Given the description of an element on the screen output the (x, y) to click on. 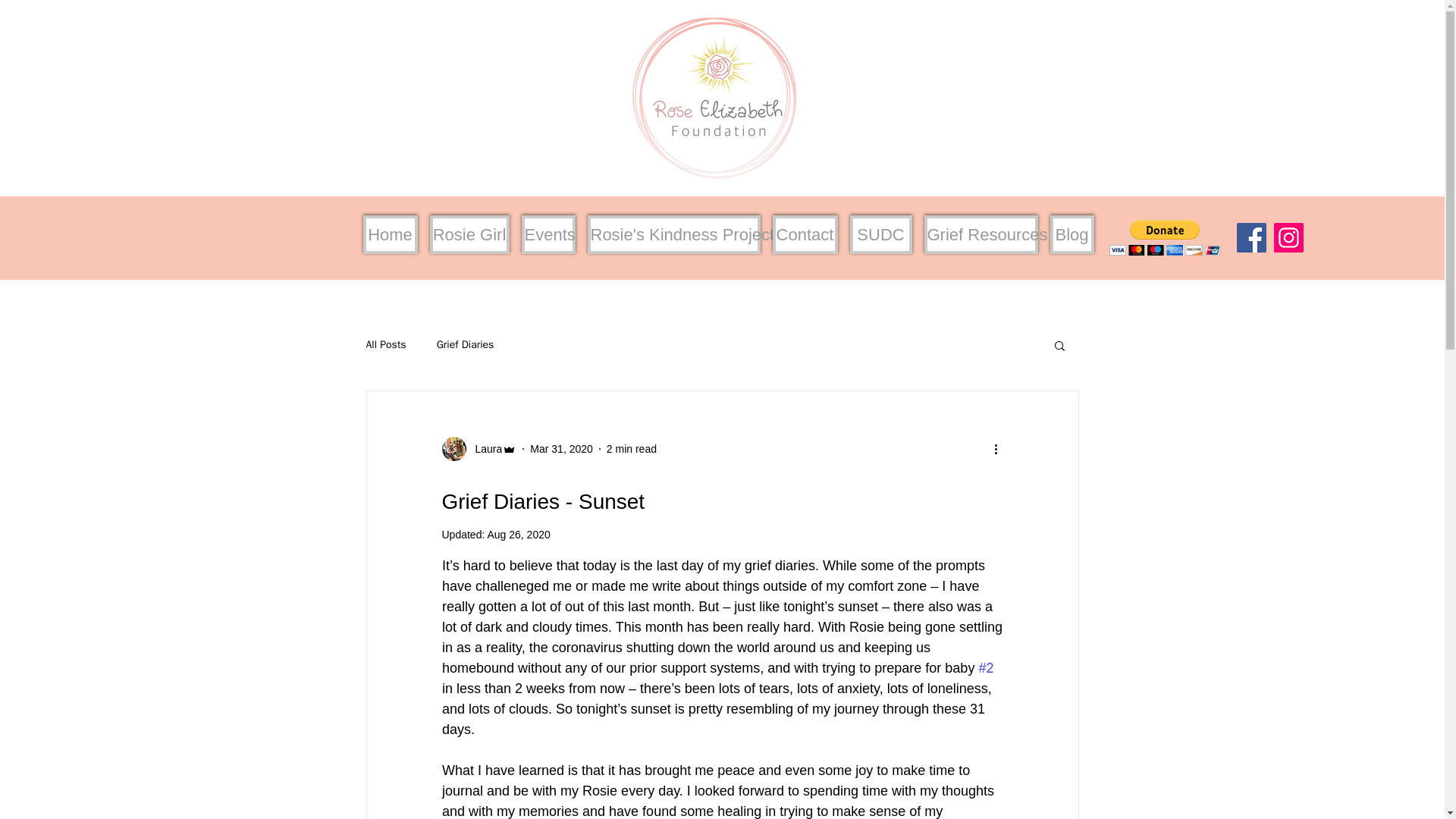
Contact (804, 234)
SUDC (879, 234)
Grief Resources (979, 234)
Blog (1071, 234)
Home (389, 234)
Rosie Girl (468, 234)
Aug 26, 2020 (518, 534)
Rosie's Kindness Project (673, 234)
Mar 31, 2020 (560, 449)
Laura (483, 449)
Events (548, 234)
2 min read (631, 449)
Laura (478, 448)
Grief Diaries (465, 345)
All Posts (385, 345)
